Given the description of an element on the screen output the (x, y) to click on. 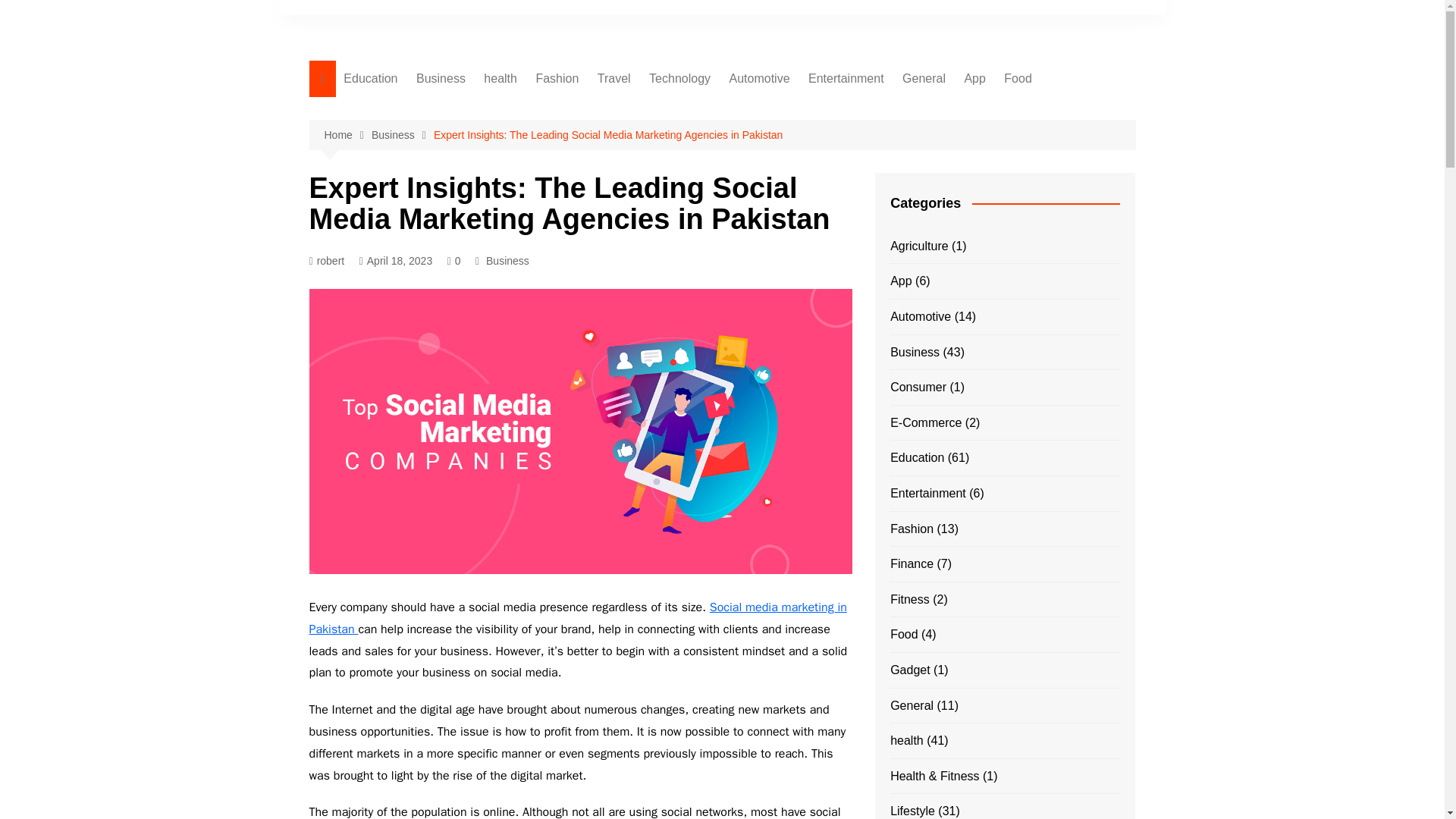
Fashion (556, 78)
Business (507, 260)
Travel (614, 78)
Business (402, 135)
Entertainment (845, 78)
Social media marketing in Pakistan (577, 618)
App (974, 78)
Technology (679, 78)
Education (370, 78)
